Given the description of an element on the screen output the (x, y) to click on. 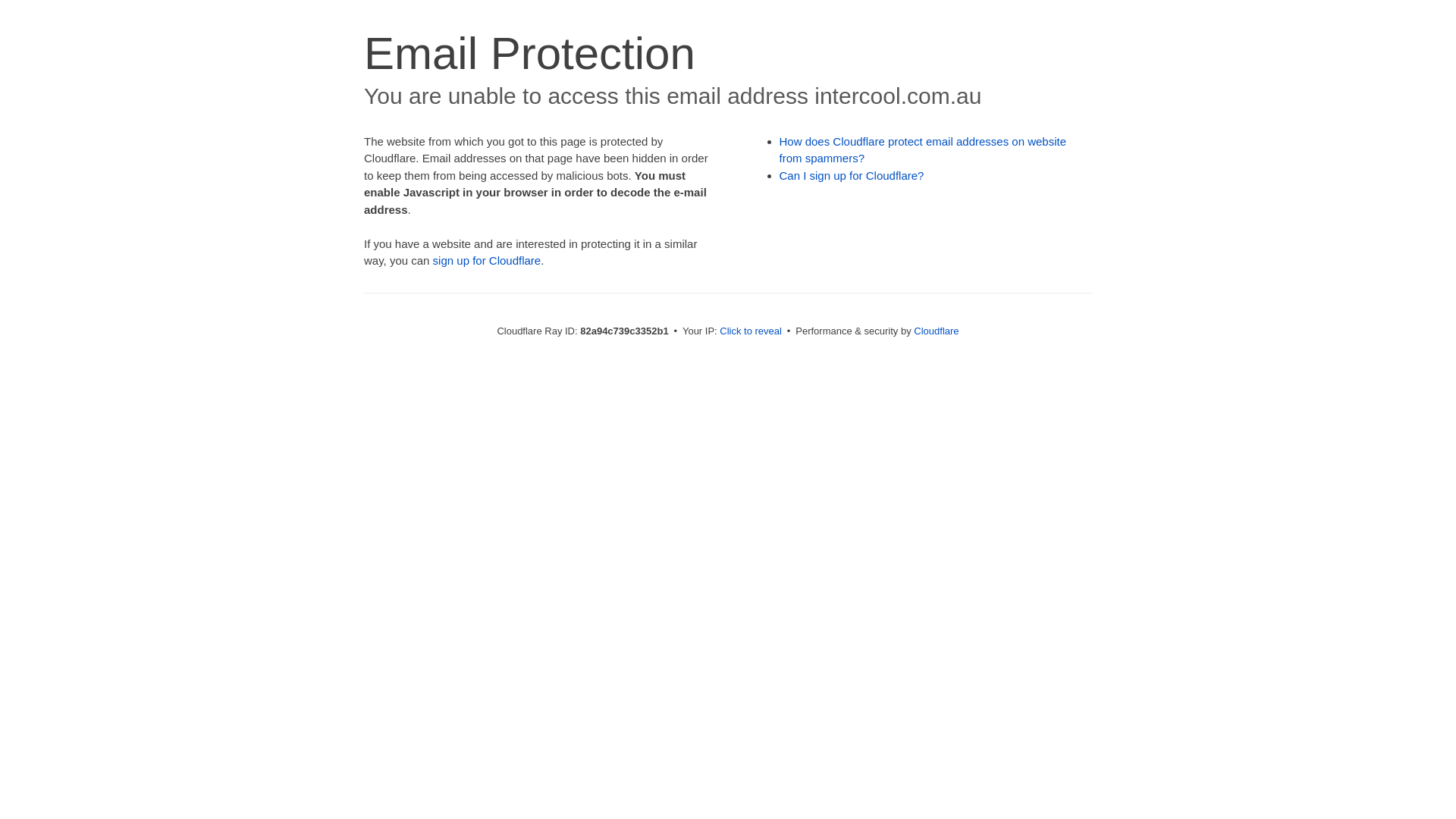
Can I sign up for Cloudflare? Element type: text (851, 175)
Click to reveal Element type: text (750, 330)
Cloudflare Element type: text (935, 330)
sign up for Cloudflare Element type: text (487, 260)
